Given the description of an element on the screen output the (x, y) to click on. 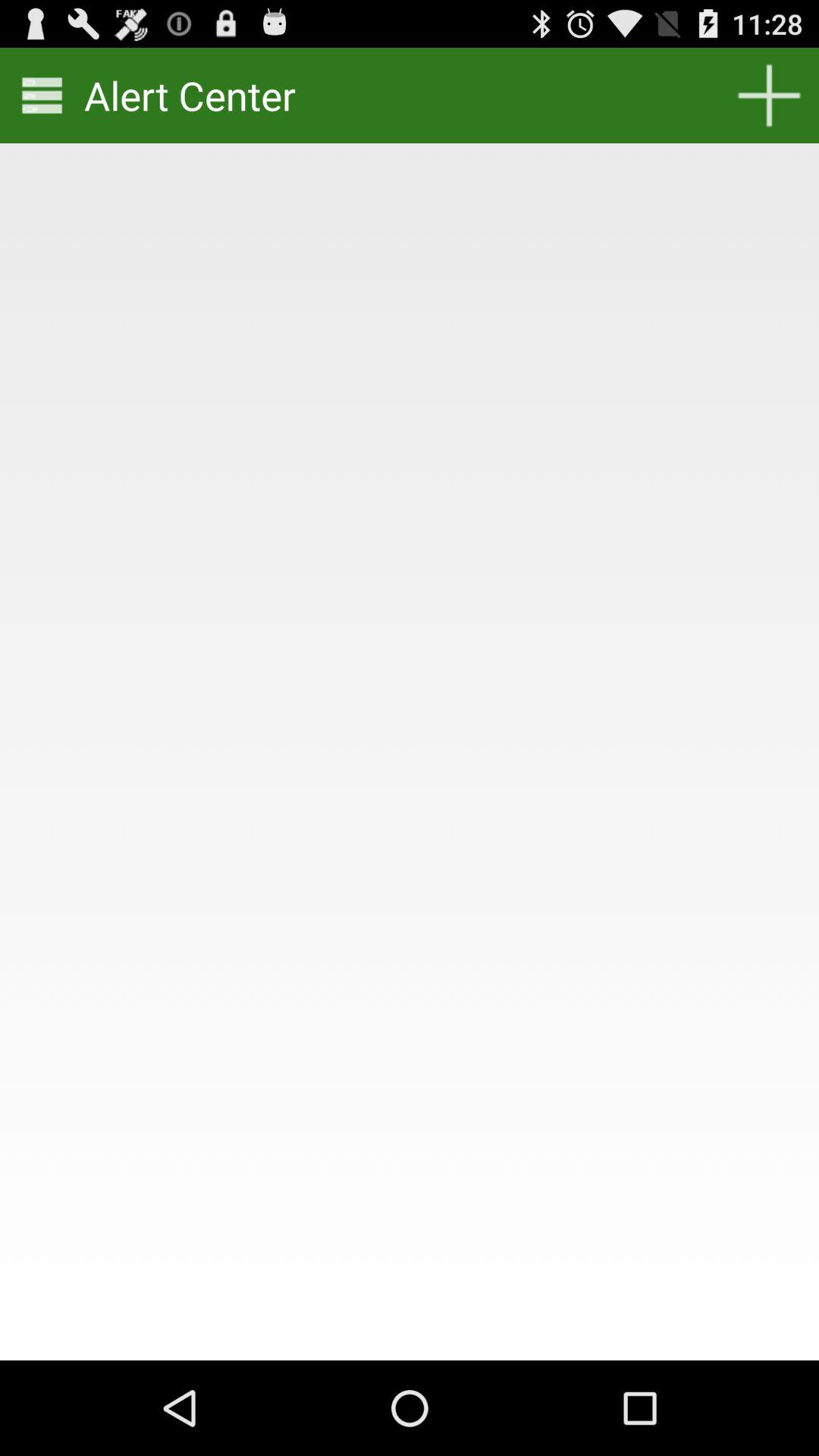
click the icon to the left of alert center app (41, 95)
